Given the description of an element on the screen output the (x, y) to click on. 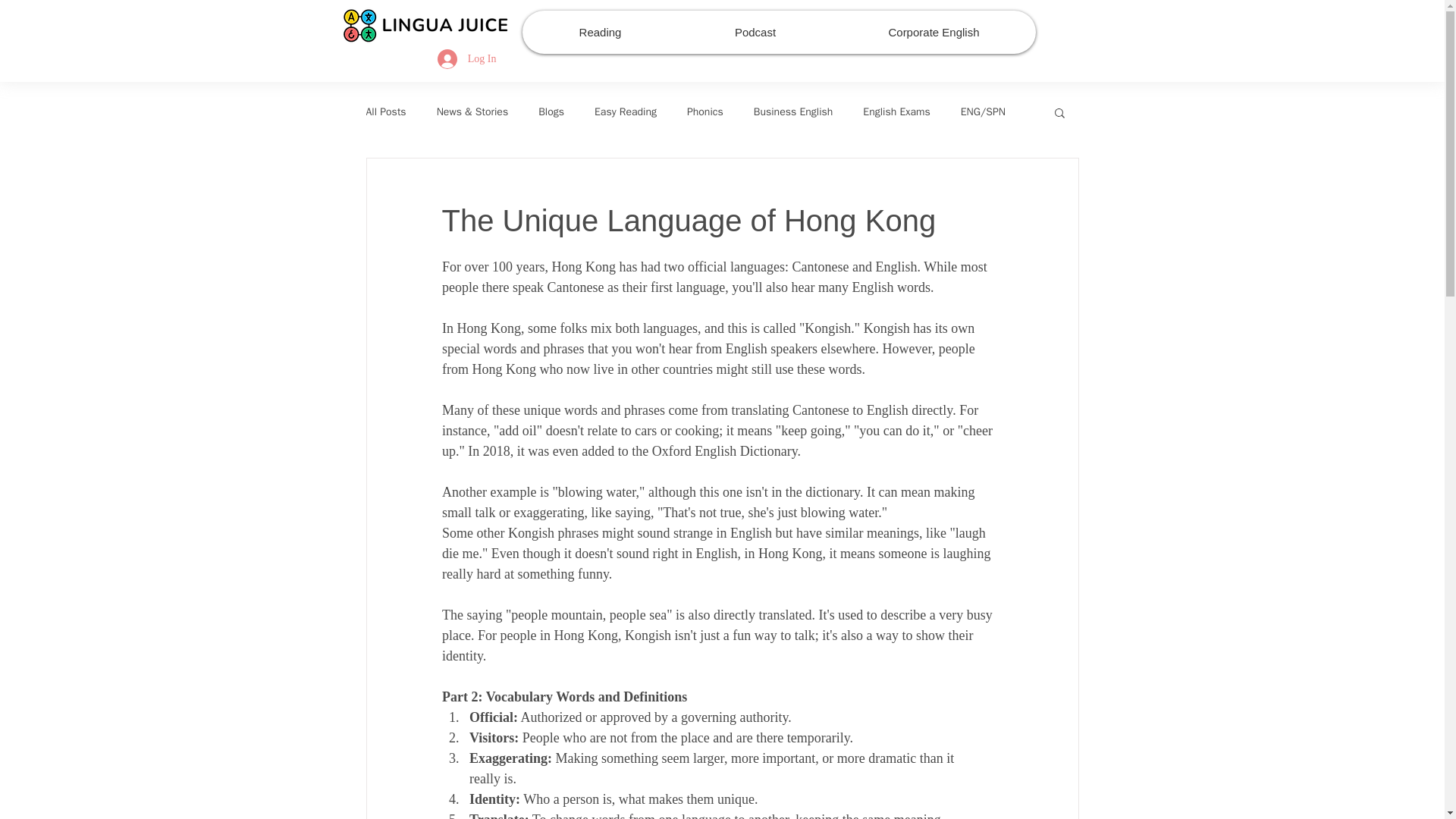
Phonics (705, 111)
All Posts (385, 111)
Business English (793, 111)
English Exams (896, 111)
Blogs (551, 111)
Reading (599, 32)
Easy Reading (625, 111)
Log In (466, 59)
Corporate English (933, 32)
Podcast (754, 32)
